Given the description of an element on the screen output the (x, y) to click on. 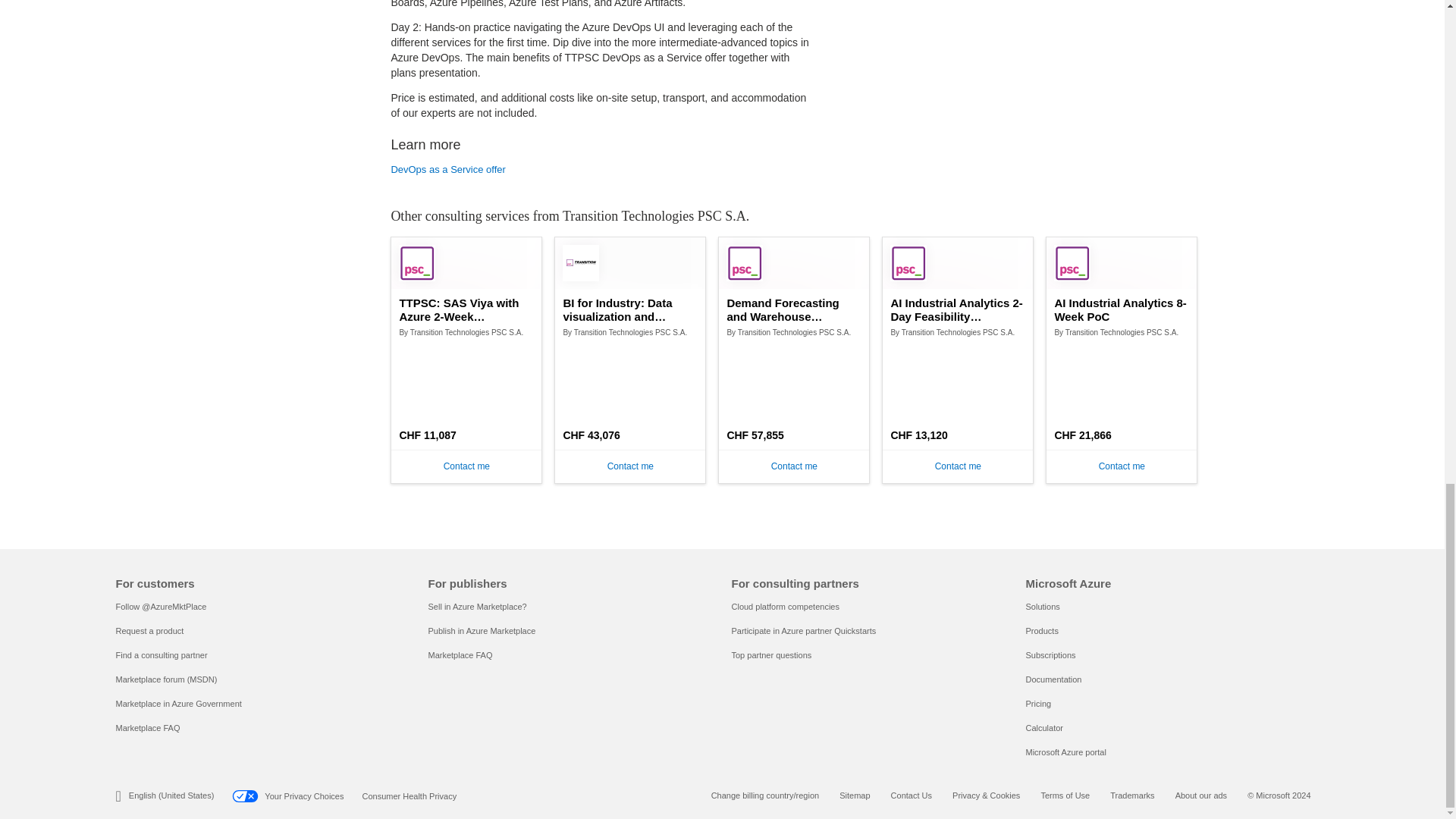
Demand Forecasting and Warehouse Optimization 8-Week PoC (793, 309)
BI for Industry: Data visualization and reporting 3-Mth PoC (629, 309)
AI Industrial Analytics 8-Week PoC (1121, 309)
TTPSC: SAS Viya with Azure 2-Week Implementation (466, 309)
AI Industrial Analytics 2-Day Feasibility Workshop (957, 309)
